Given the description of an element on the screen output the (x, y) to click on. 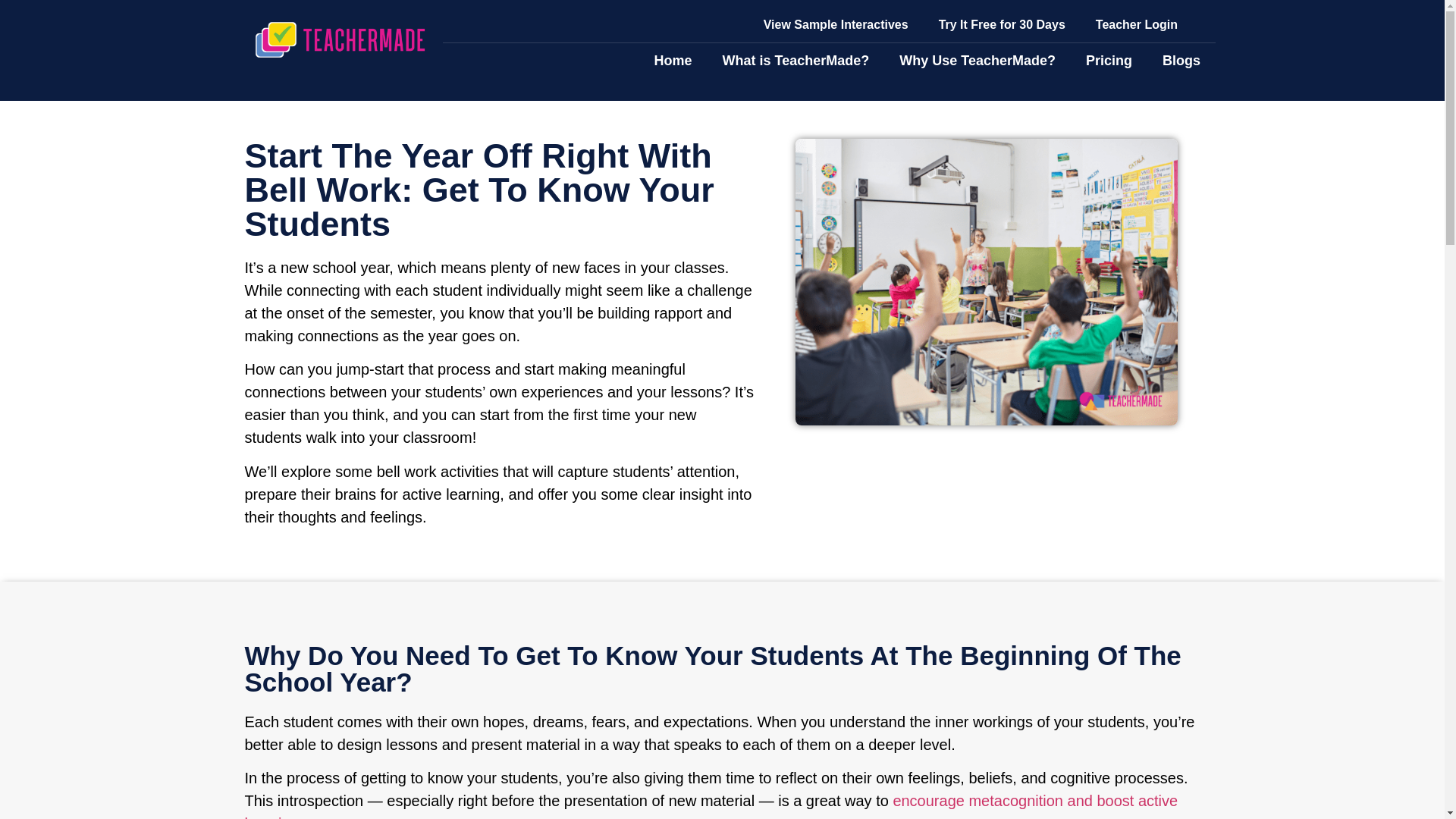
Why Use TeacherMade? (976, 60)
View Sample Interactives (835, 24)
Try It Free for 30 Days (1001, 24)
What is TeacherMade? (794, 60)
Pricing (1108, 60)
Teacher Login (1136, 24)
Home (672, 60)
Blogs (1181, 60)
